Given the description of an element on the screen output the (x, y) to click on. 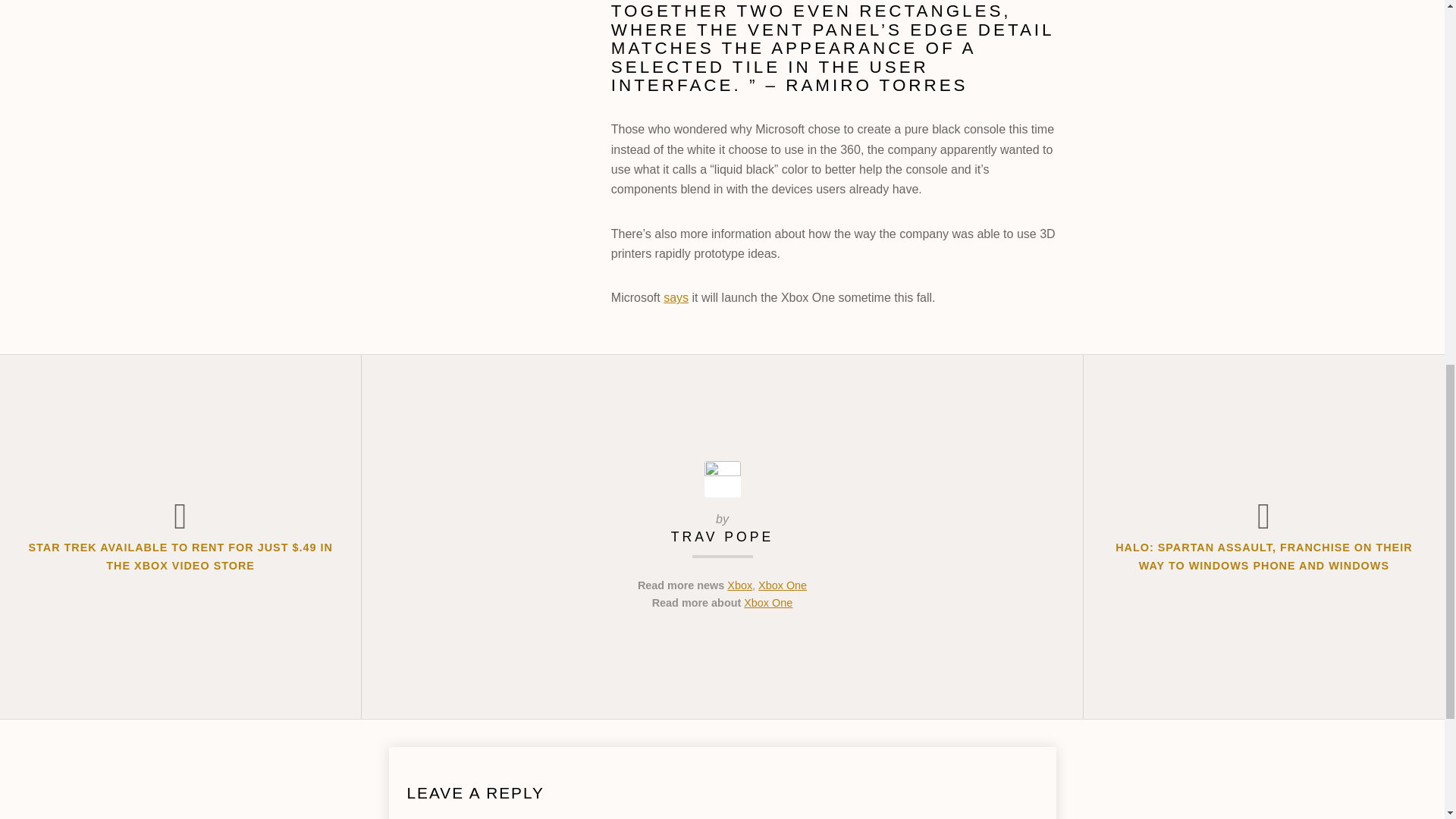
Xbox One (782, 585)
Posts by Trav Pope (722, 536)
says (675, 297)
Xbox One (768, 603)
Xbox (739, 585)
TRAV POPE (722, 536)
